Given the description of an element on the screen output the (x, y) to click on. 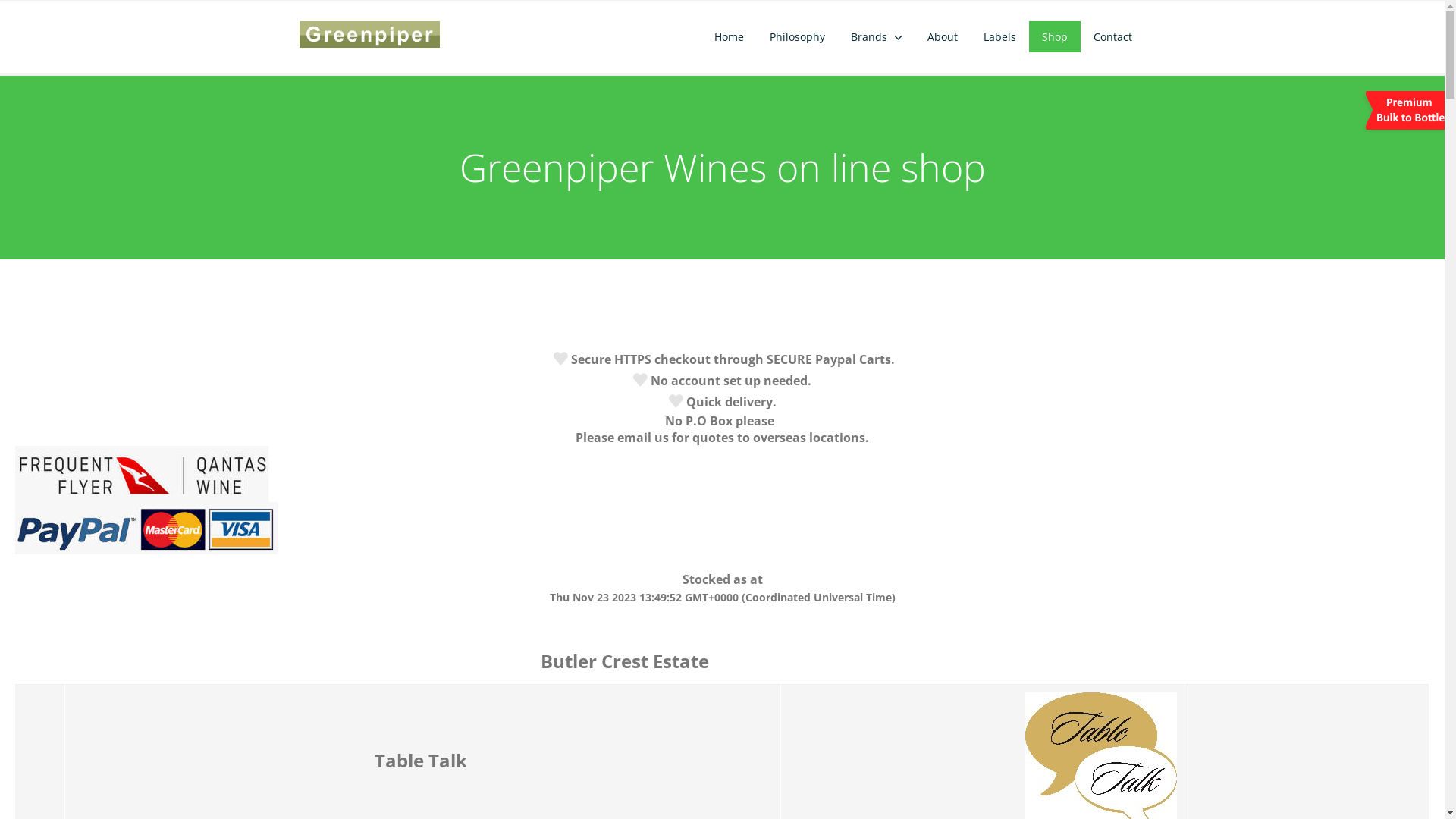
Contact Element type: text (1112, 36)
Shop Element type: text (1054, 36)
Philosophy Element type: text (796, 36)
Labels Element type: text (999, 36)
Home Element type: text (728, 36)
Brands Element type: text (875, 36)
About Element type: text (942, 36)
